Given the description of an element on the screen output the (x, y) to click on. 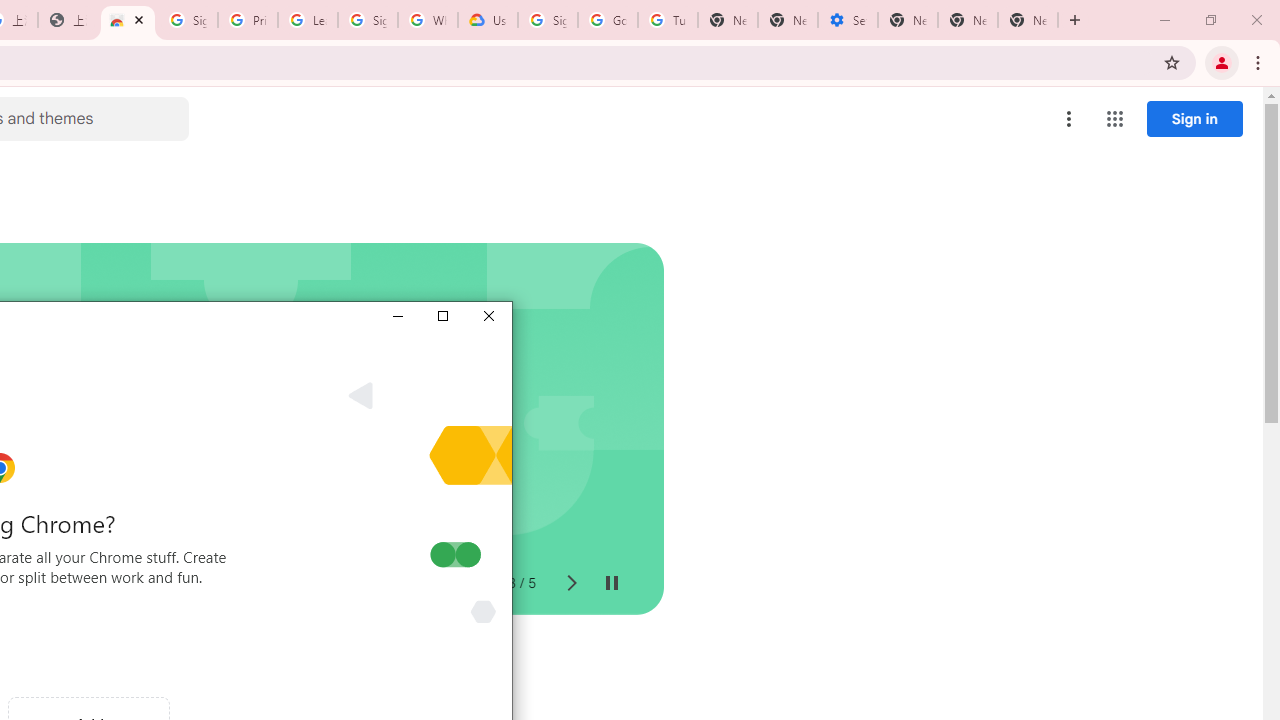
Who are Google's partners? - Privacy and conditions - Google (428, 20)
Next slide (570, 583)
Turn cookies on or off - Computer - Google Account Help (667, 20)
Sign in - Google Accounts (548, 20)
Sign in - Google Accounts (367, 20)
Chrome Web Store (127, 20)
